Given the description of an element on the screen output the (x, y) to click on. 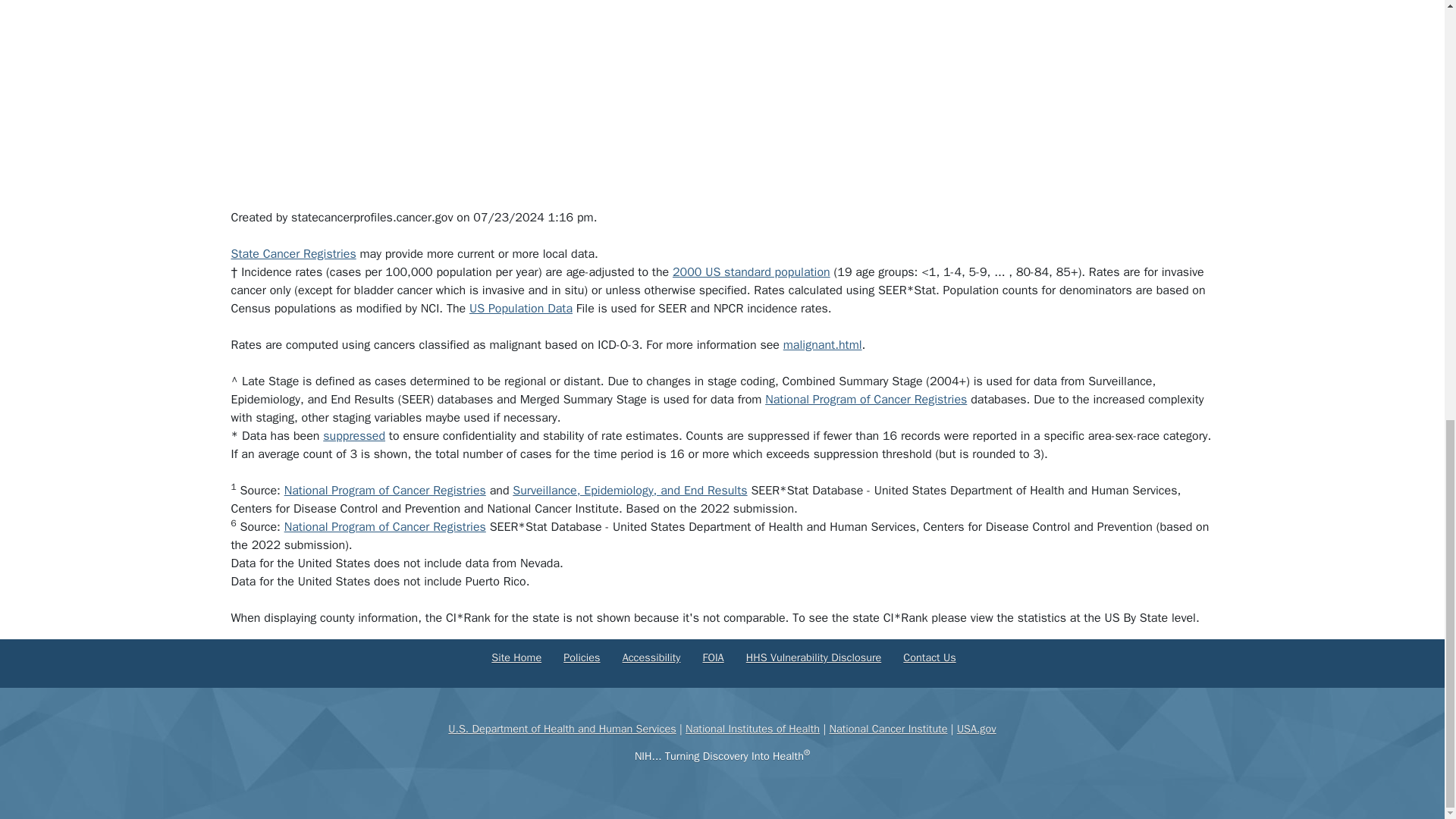
link to external State Cancer Registries (292, 253)
FOIA (712, 657)
Contact Us (928, 657)
National Program of Cancer Registries (865, 399)
Surveillance, Epidemiology, and End Results (629, 490)
National Cancer Institute (887, 728)
National Program of Cancer Registries (384, 526)
U.S. Department of Health and Human Services (561, 728)
State Cancer Registries (292, 253)
National Program of Cancer Registries (384, 490)
HHS Vulnerability Disclosure (812, 657)
malignant.html (822, 344)
US Population Data (520, 308)
National Institutes of Health (752, 728)
Site Home (516, 657)
